Given the description of an element on the screen output the (x, y) to click on. 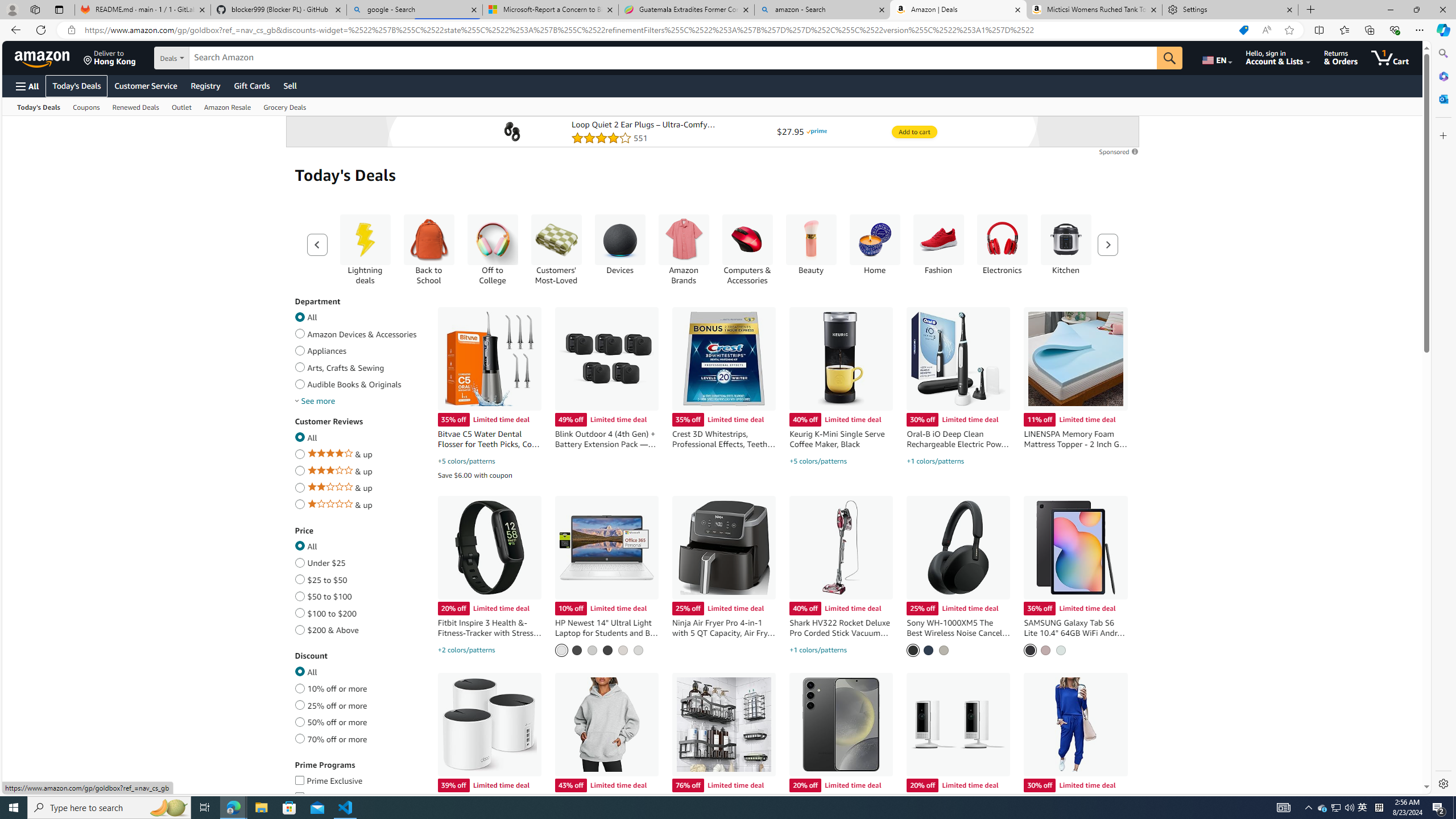
Registry (205, 85)
google - Search (414, 9)
Lightning deals (364, 239)
$100 to $200 (299, 611)
Shopping in Microsoft Edge (1243, 29)
Under $25 (299, 560)
Amazon Brands Amazon Brands (683, 249)
Appliances (299, 348)
Computers & Accessories (747, 249)
